Given the description of an element on the screen output the (x, y) to click on. 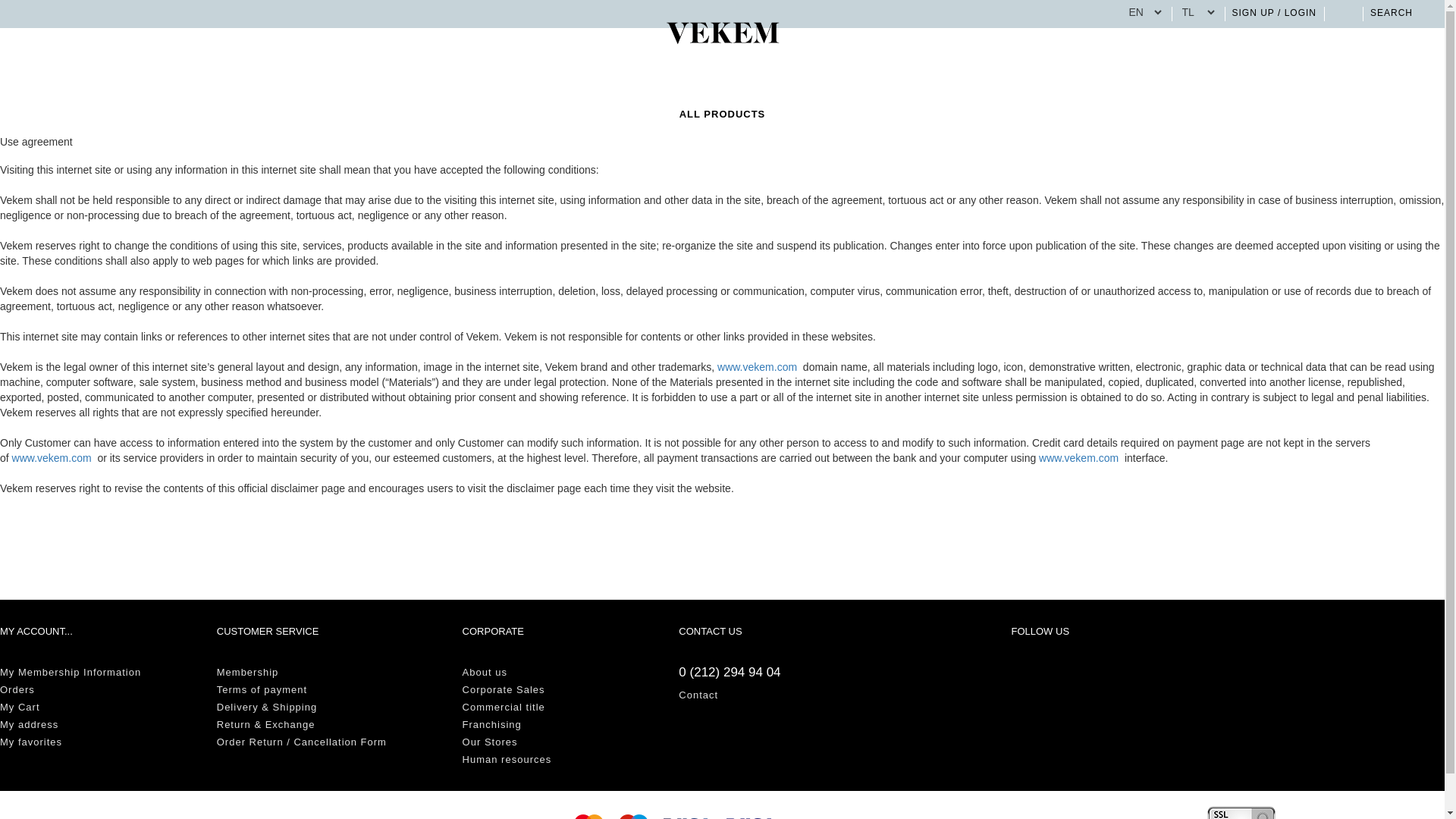
ALL PRODUCTS (722, 113)
SEARCH (1399, 12)
All Products (722, 113)
